Given the description of an element on the screen output the (x, y) to click on. 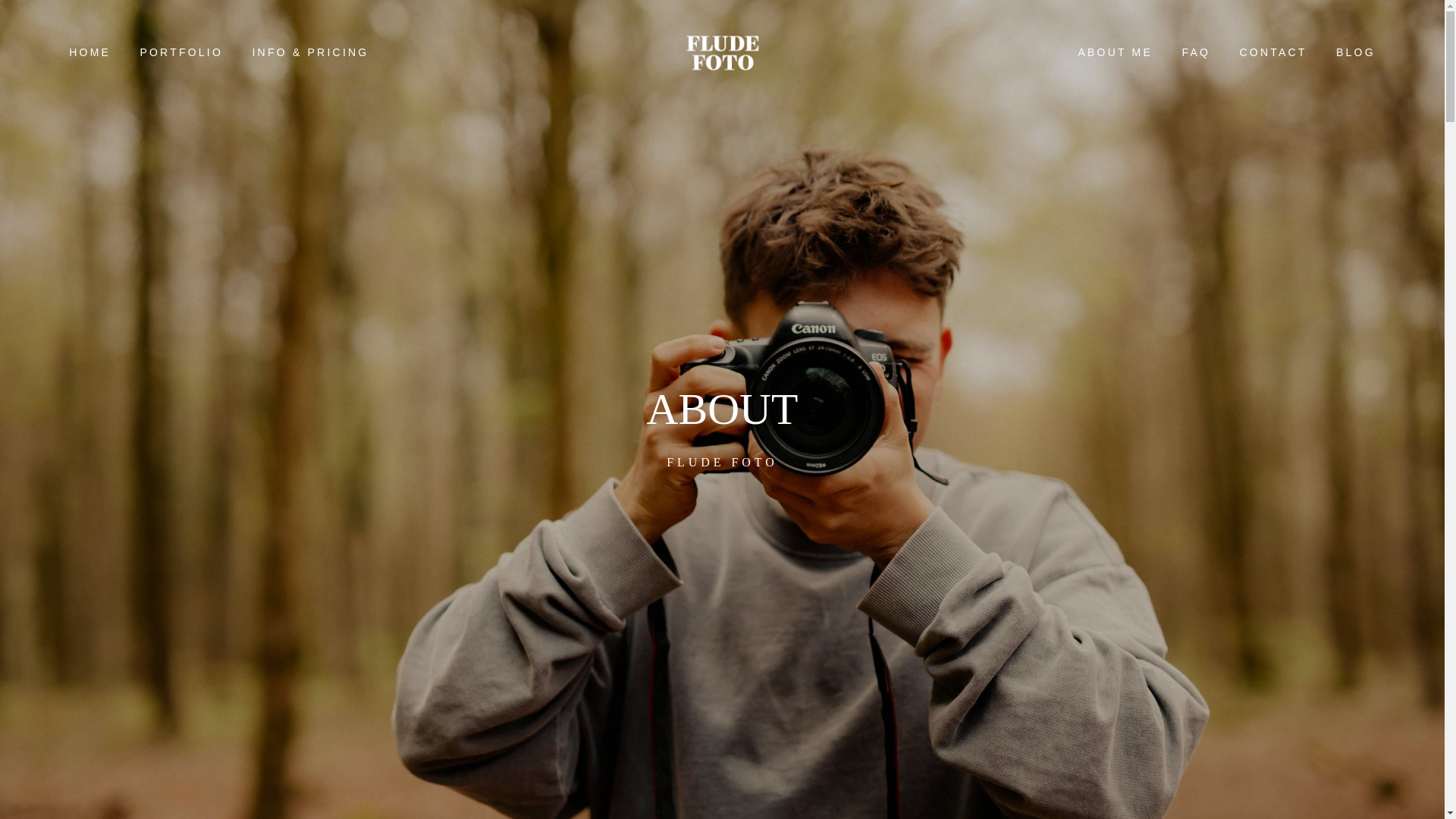
BLOG (1356, 52)
CONTACT (1273, 52)
ABOUT ME (1114, 52)
FAQ (1195, 52)
PORTFOLIO (181, 52)
HOME (90, 52)
